Given the description of an element on the screen output the (x, y) to click on. 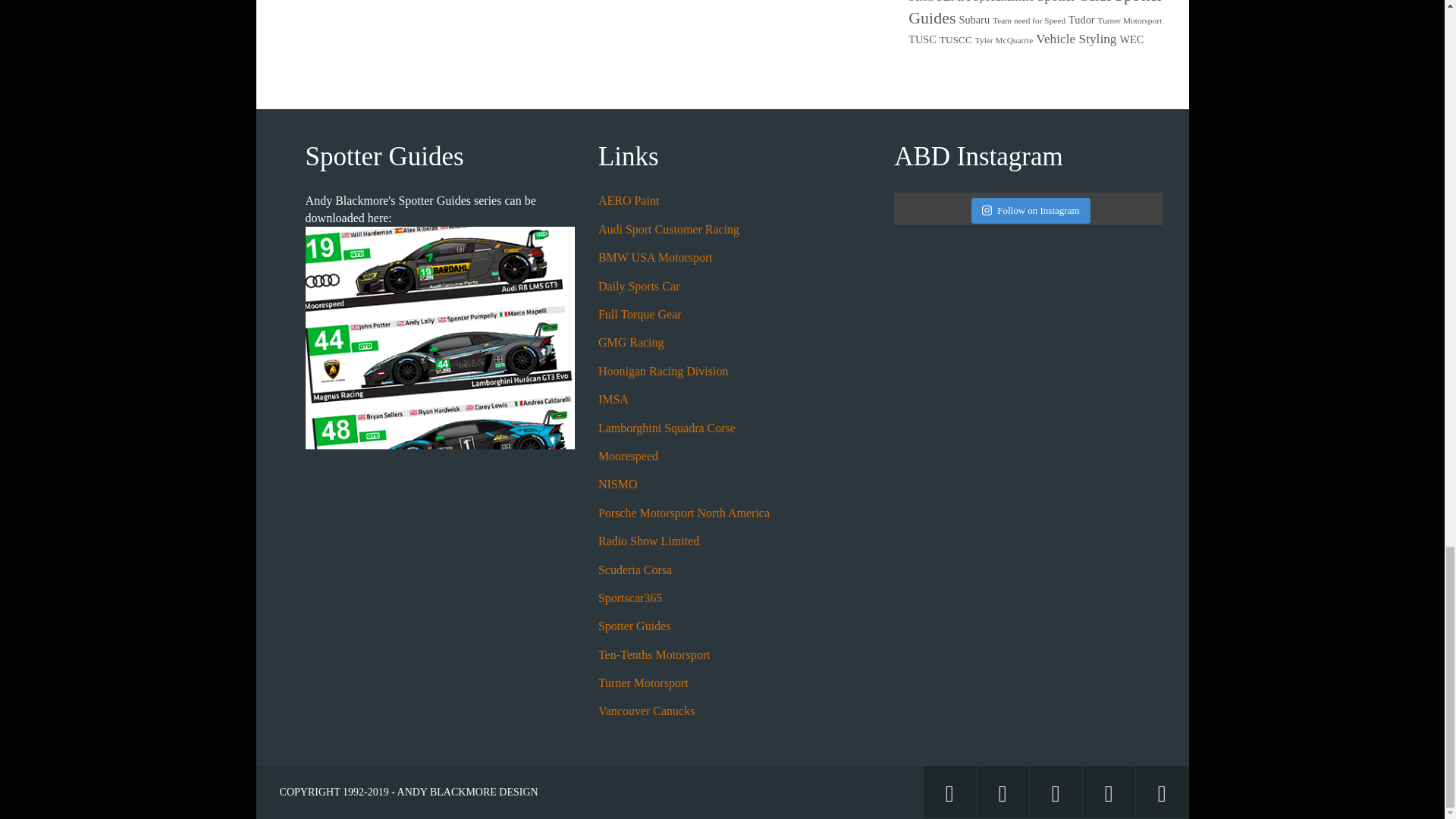
SportsCar 365 by John Dagys (630, 597)
Spotter Guides for fans to download of popular race series (634, 625)
Radio Le Mans (648, 540)
Daily Sportscar (638, 286)
